Given the description of an element on the screen output the (x, y) to click on. 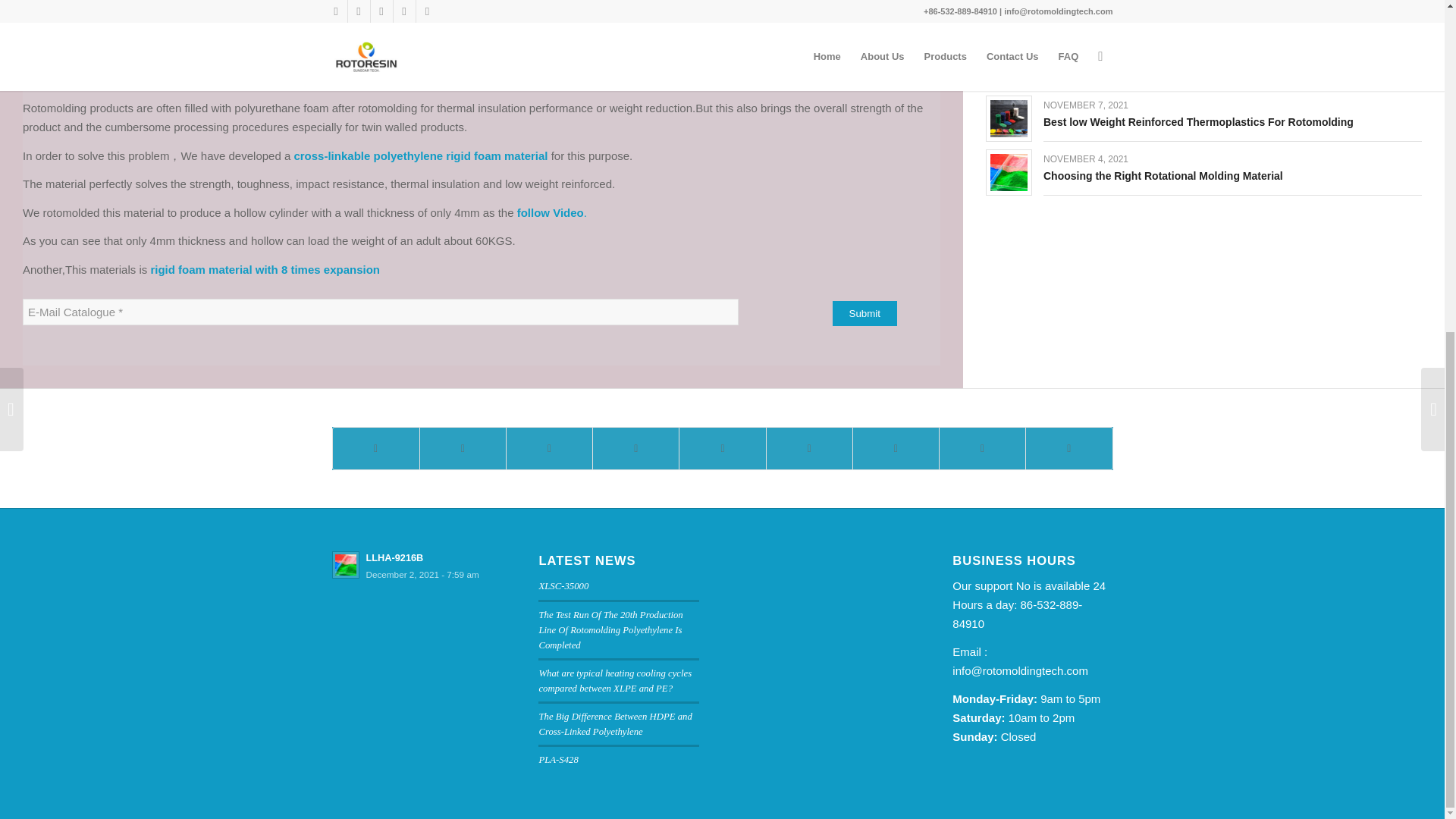
Submit (864, 313)
cross-linkable polyethylene rigid foam material (420, 155)
